Given the description of an element on the screen output the (x, y) to click on. 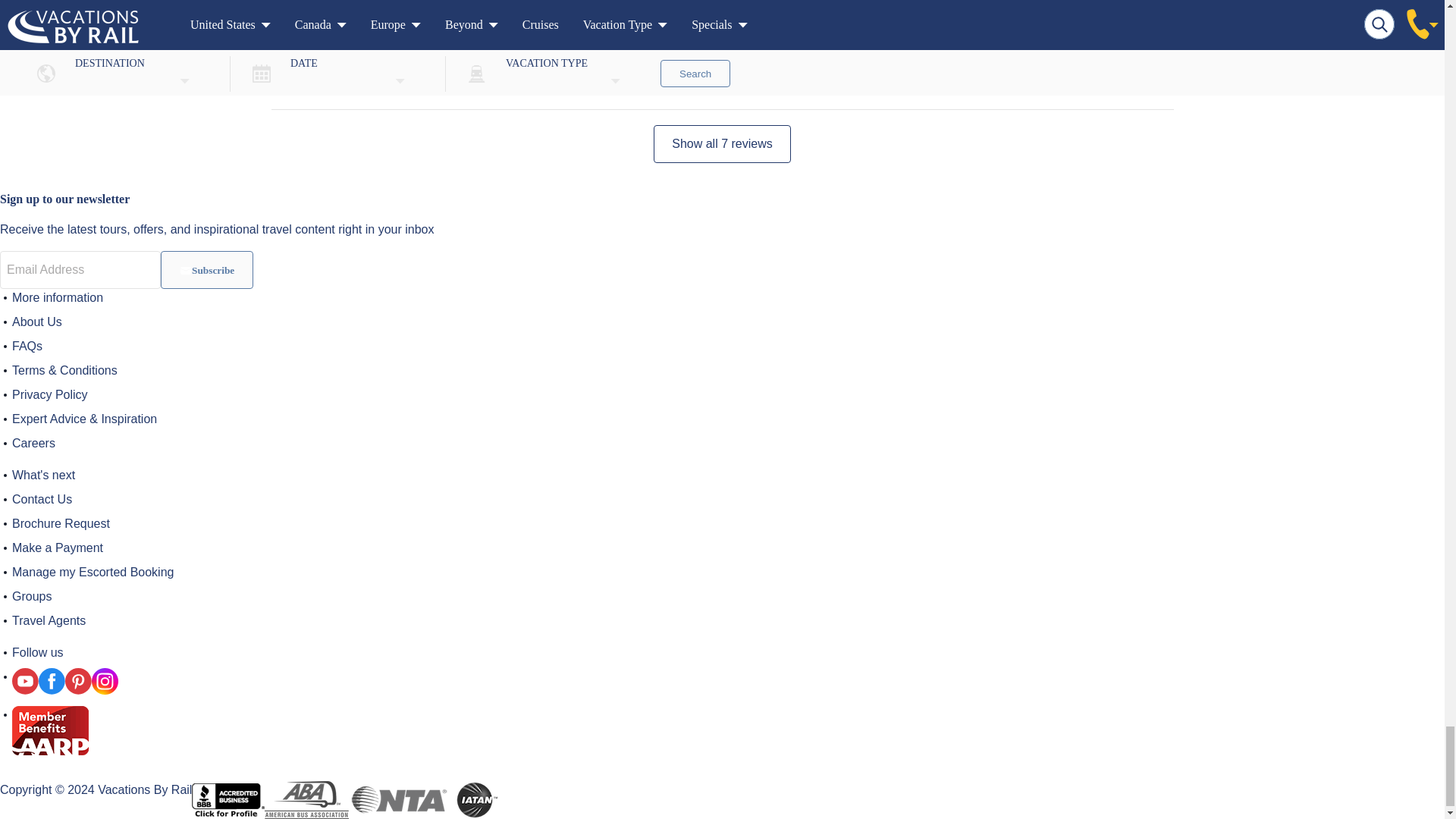
FAQs (26, 345)
Contact Us (41, 499)
Privacy Policy (49, 394)
Make a Payment (57, 547)
FaceBook (52, 681)
Pinterest (78, 681)
About Us (36, 321)
Groups (30, 595)
Manage my Escorted Booking (92, 571)
YouTube (25, 681)
